Given the description of an element on the screen output the (x, y) to click on. 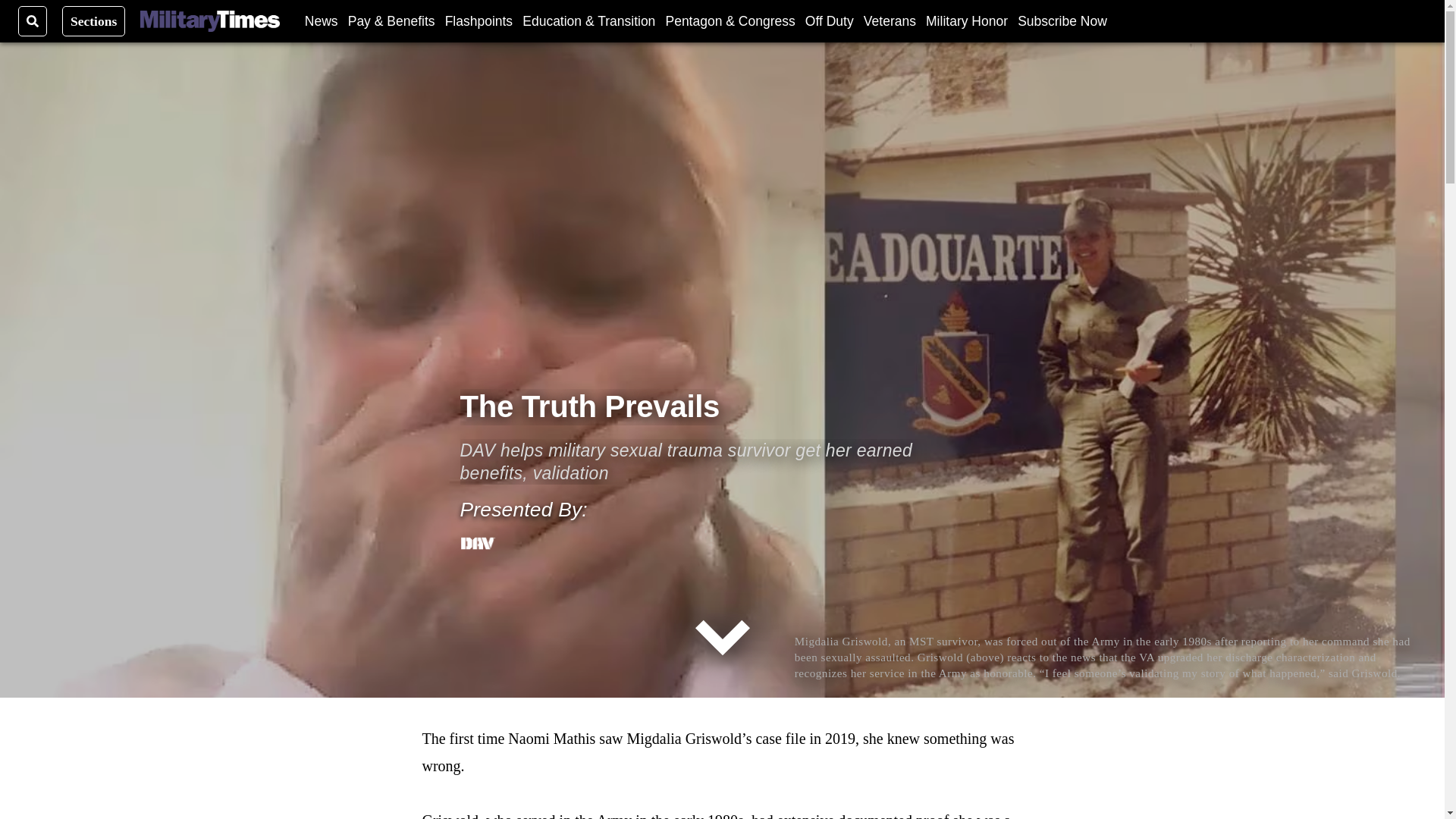
Off Duty (829, 20)
Sections (93, 20)
Flashpoints (479, 20)
Military Honor (966, 20)
News (320, 20)
Veterans (889, 20)
Military Times Logo (209, 20)
